Given the description of an element on the screen output the (x, y) to click on. 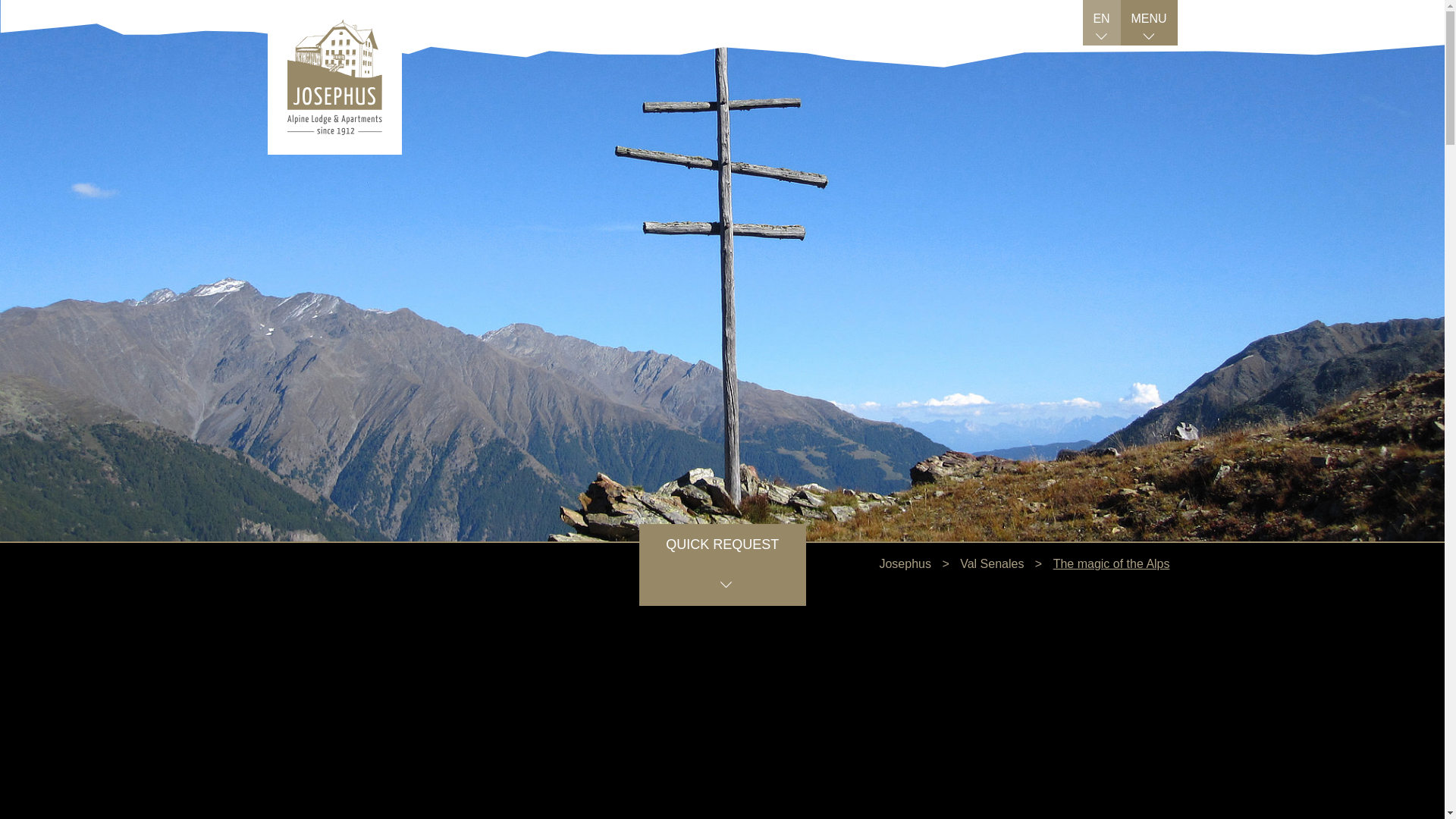
Josephus (904, 563)
Val Senales (991, 563)
The magic of the Alps (1111, 563)
